Given the description of an element on the screen output the (x, y) to click on. 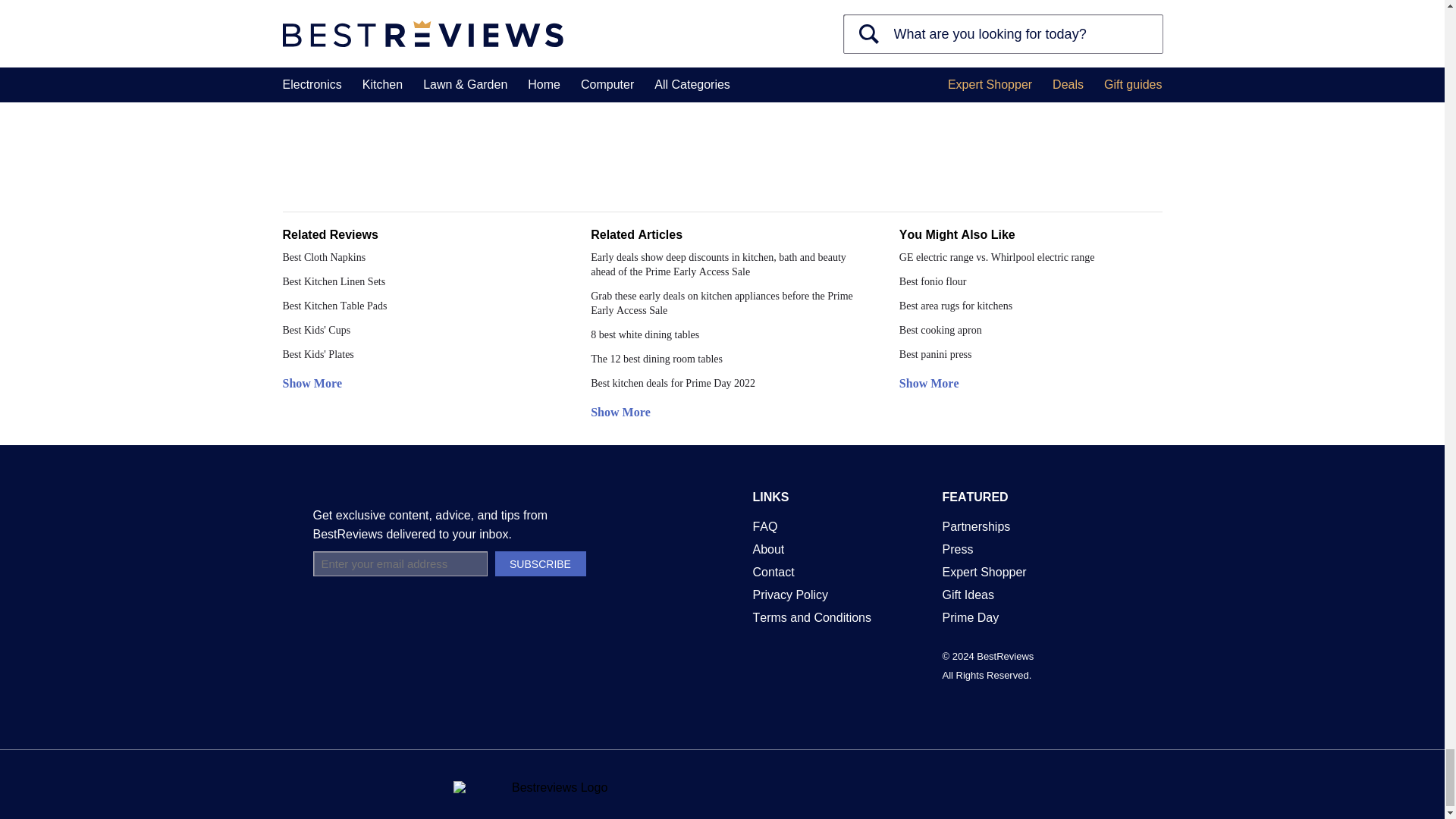
Contact Us (772, 571)
Subscribe email (399, 563)
Frequently asked questions (764, 526)
